Given the description of an element on the screen output the (x, y) to click on. 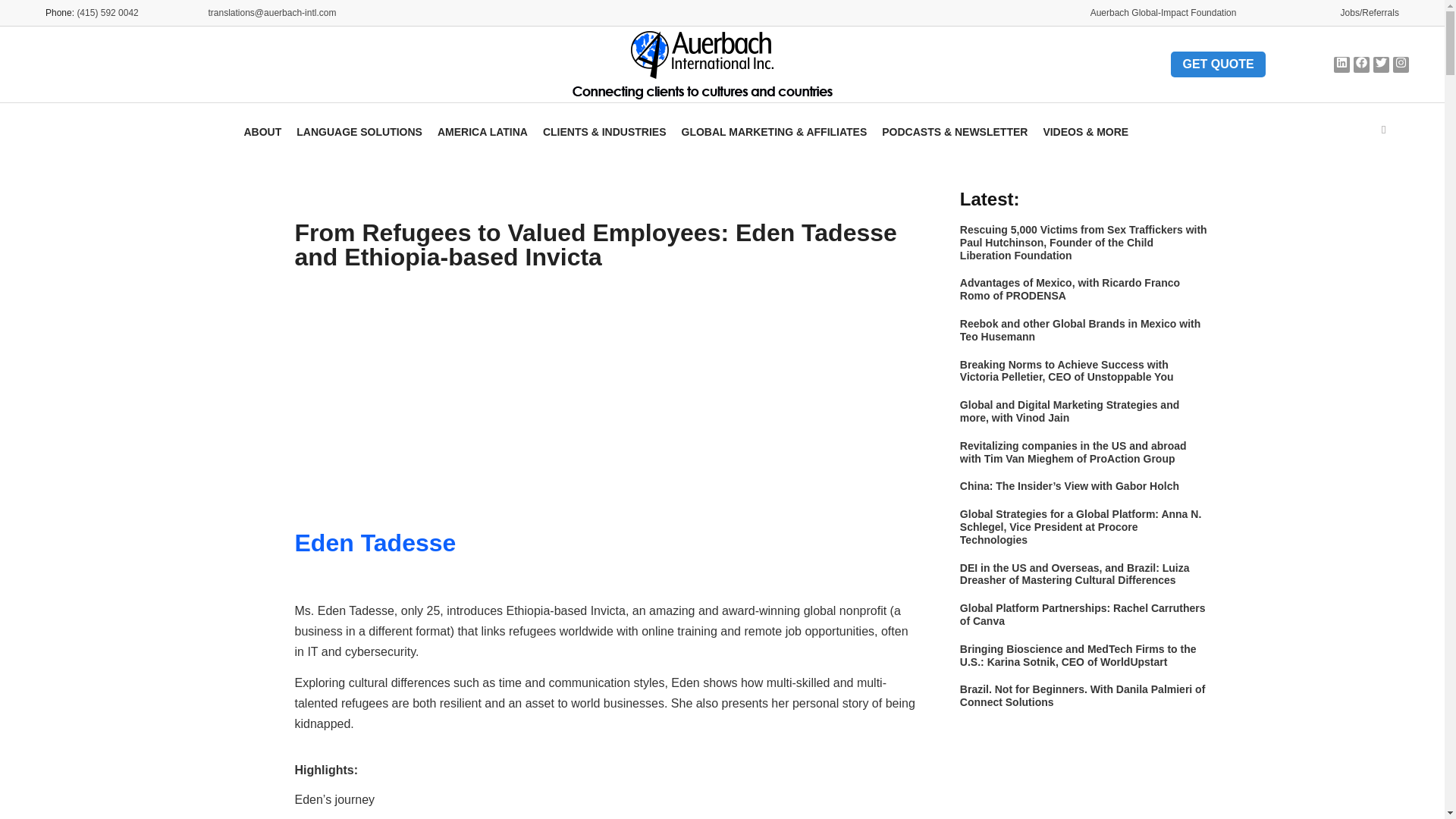
ABOUT (262, 130)
AMERICA LATINA (482, 130)
Auerbach Global-Impact Foundation (1163, 12)
LANGUAGE SOLUTIONS (358, 130)
